Given the description of an element on the screen output the (x, y) to click on. 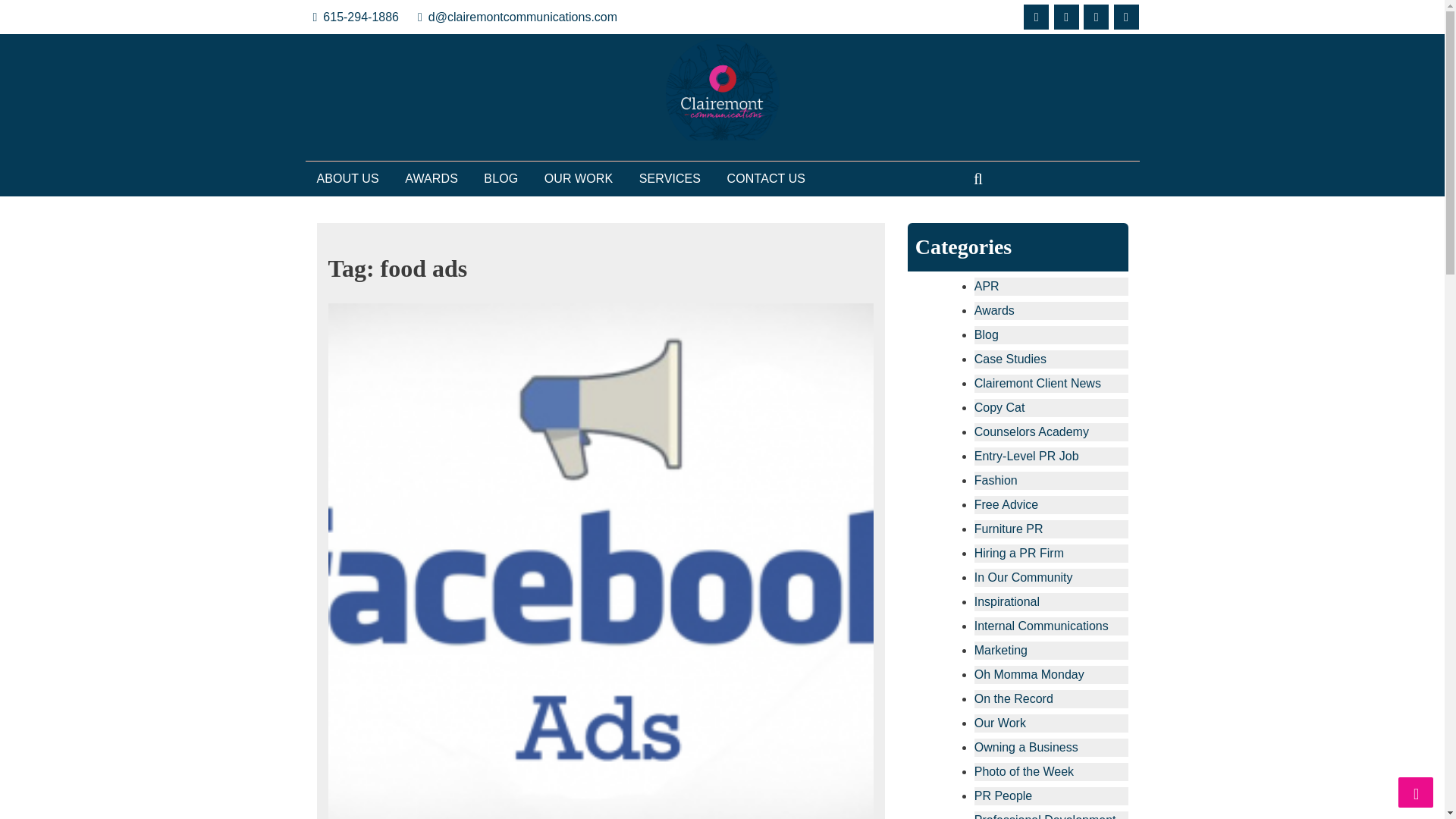
CONTACT US (766, 178)
Clairemont Communications (454, 175)
SERVICES (669, 178)
AWARDS (431, 178)
OUR WORK (578, 178)
ABOUT US (347, 178)
BLOG (500, 178)
